Given the description of an element on the screen output the (x, y) to click on. 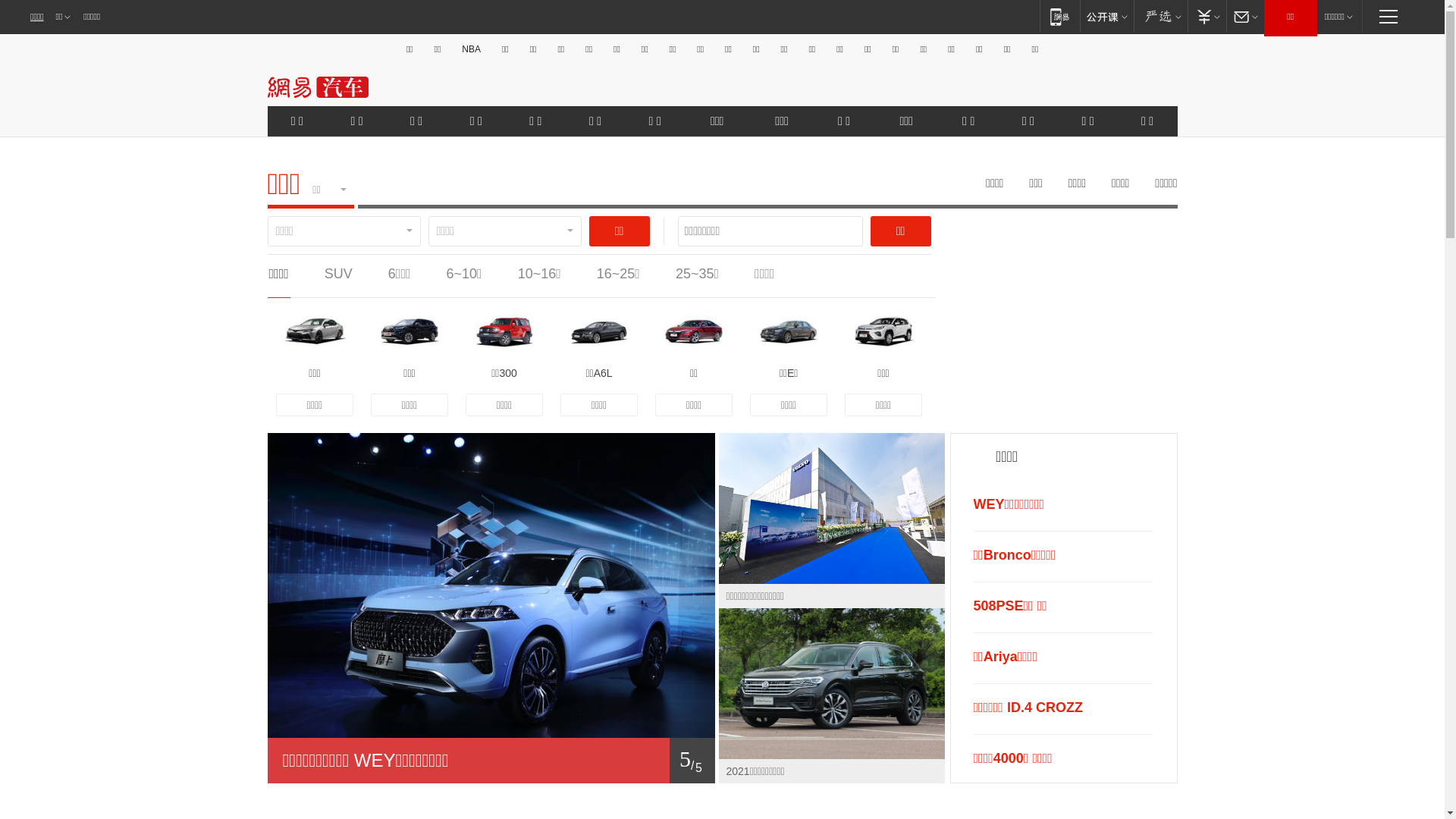
SUV Element type: text (338, 273)
NBA Element type: text (471, 48)
1/ 5 Element type: text (490, 760)
